Given the description of an element on the screen output the (x, y) to click on. 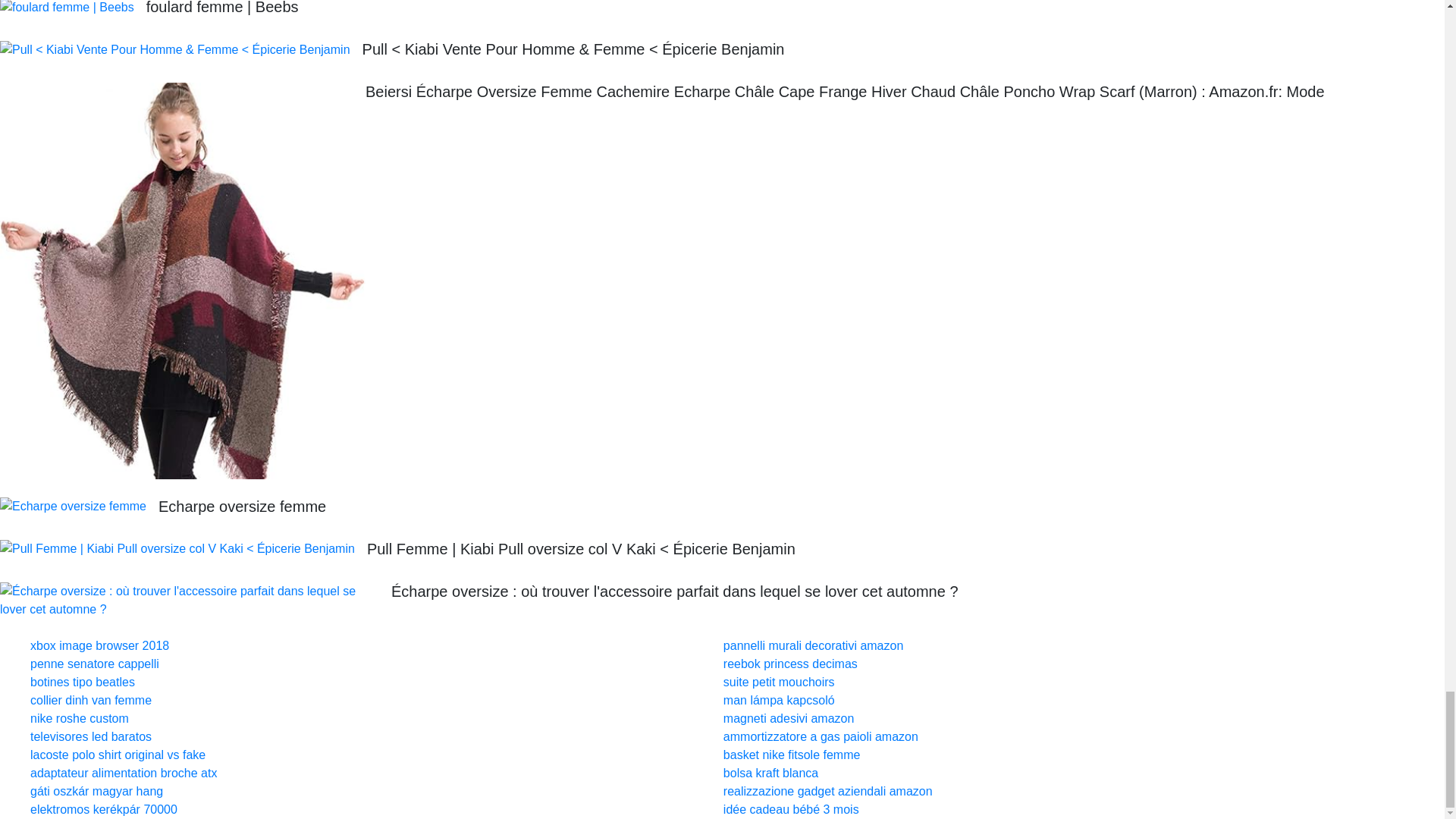
reebok princess decimas (790, 663)
pannelli murali decorativi amazon (812, 645)
penne senatore cappelli (94, 663)
xbox image browser 2018 (99, 645)
botines tipo beatles (82, 681)
